Given the description of an element on the screen output the (x, y) to click on. 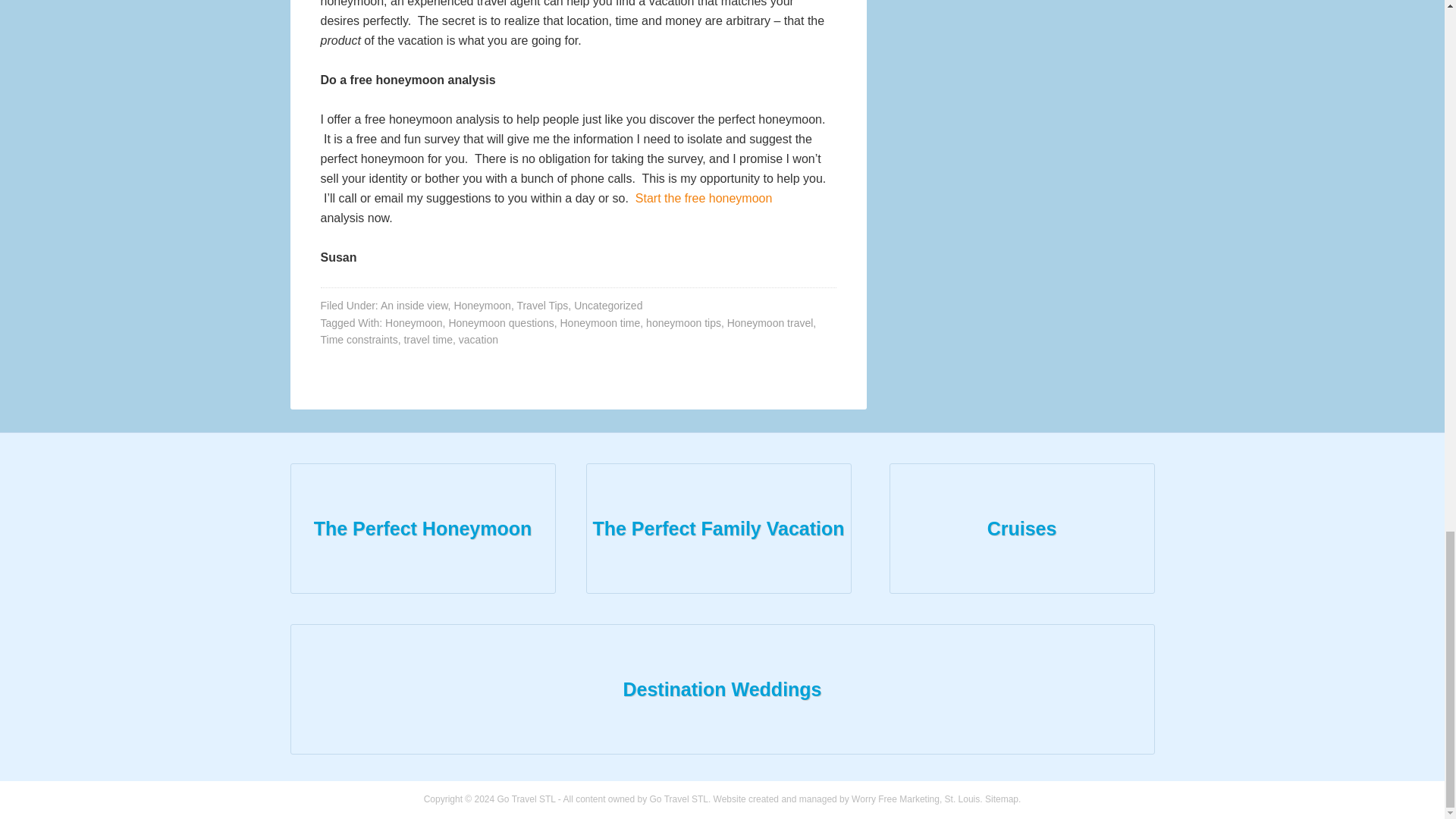
Uncategorized (607, 305)
Travel Tips (541, 305)
Honeymoon (413, 322)
Honeymoon (481, 305)
Honeymoon questions (500, 322)
Start the free honeymoon (703, 197)
An inside view (414, 305)
